Given the description of an element on the screen output the (x, y) to click on. 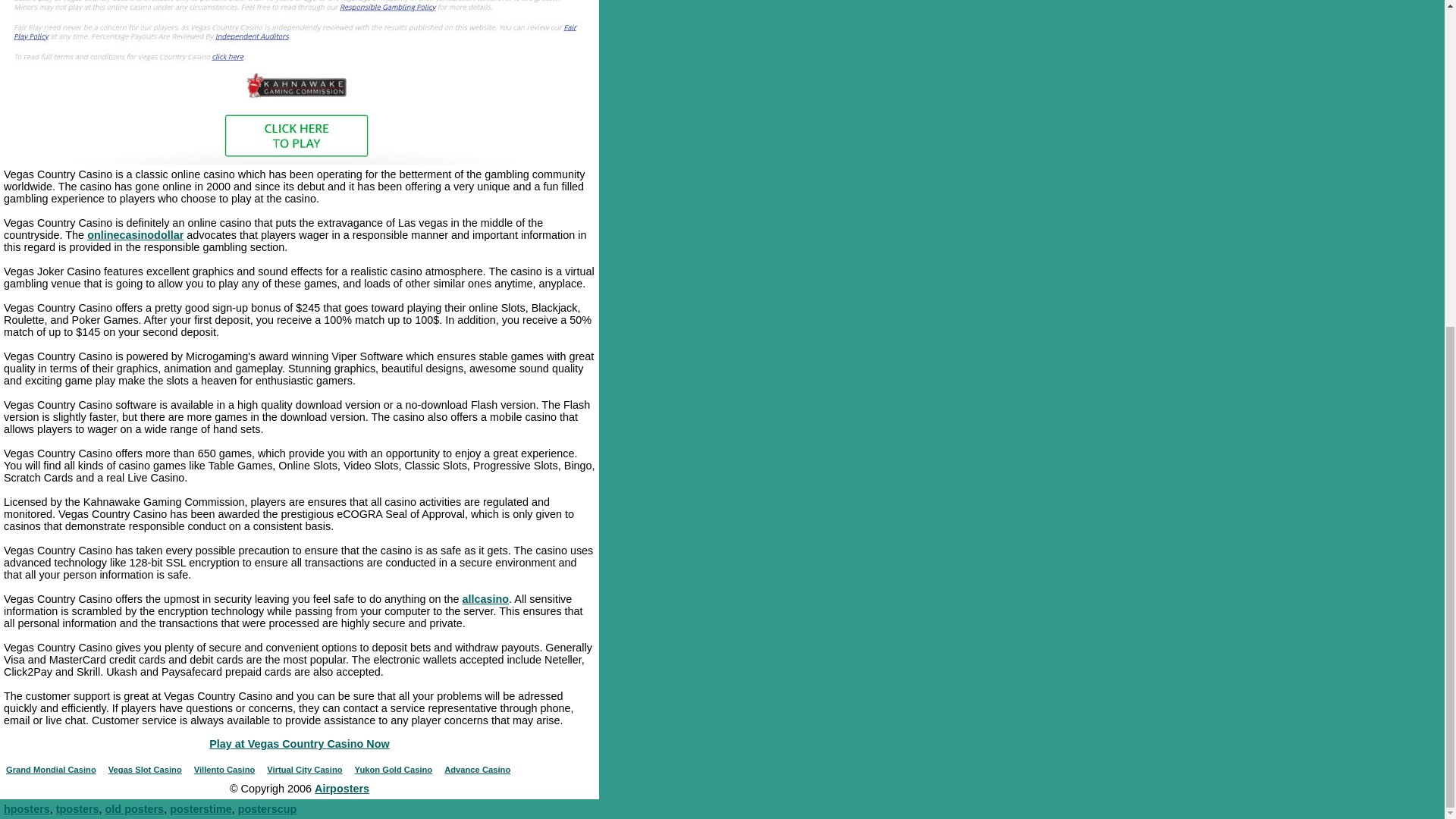
tposters (77, 808)
allcasino (486, 598)
Villento Casino (224, 768)
Yukon Gold Casino (393, 768)
Advance Casino (477, 768)
onlinecasinodollar (135, 234)
Vegas Slot Casino (144, 768)
posterscup (267, 808)
posterstime (200, 808)
old posters (134, 808)
